Given the description of an element on the screen output the (x, y) to click on. 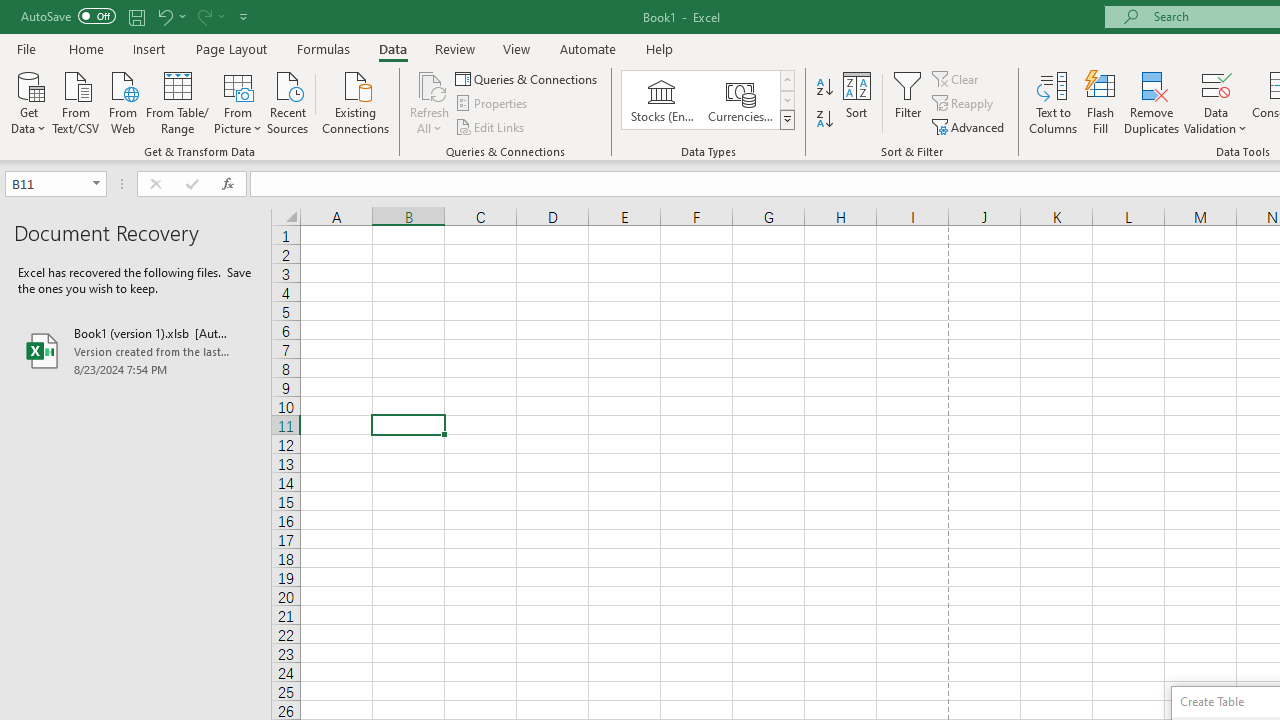
Sort A to Z (824, 87)
Remove Duplicates (1151, 102)
AutomationID: ConvertToLinkedEntity (708, 99)
Reapply (964, 103)
Advanced... (970, 126)
Properties (492, 103)
Get Data (28, 101)
